Given the description of an element on the screen output the (x, y) to click on. 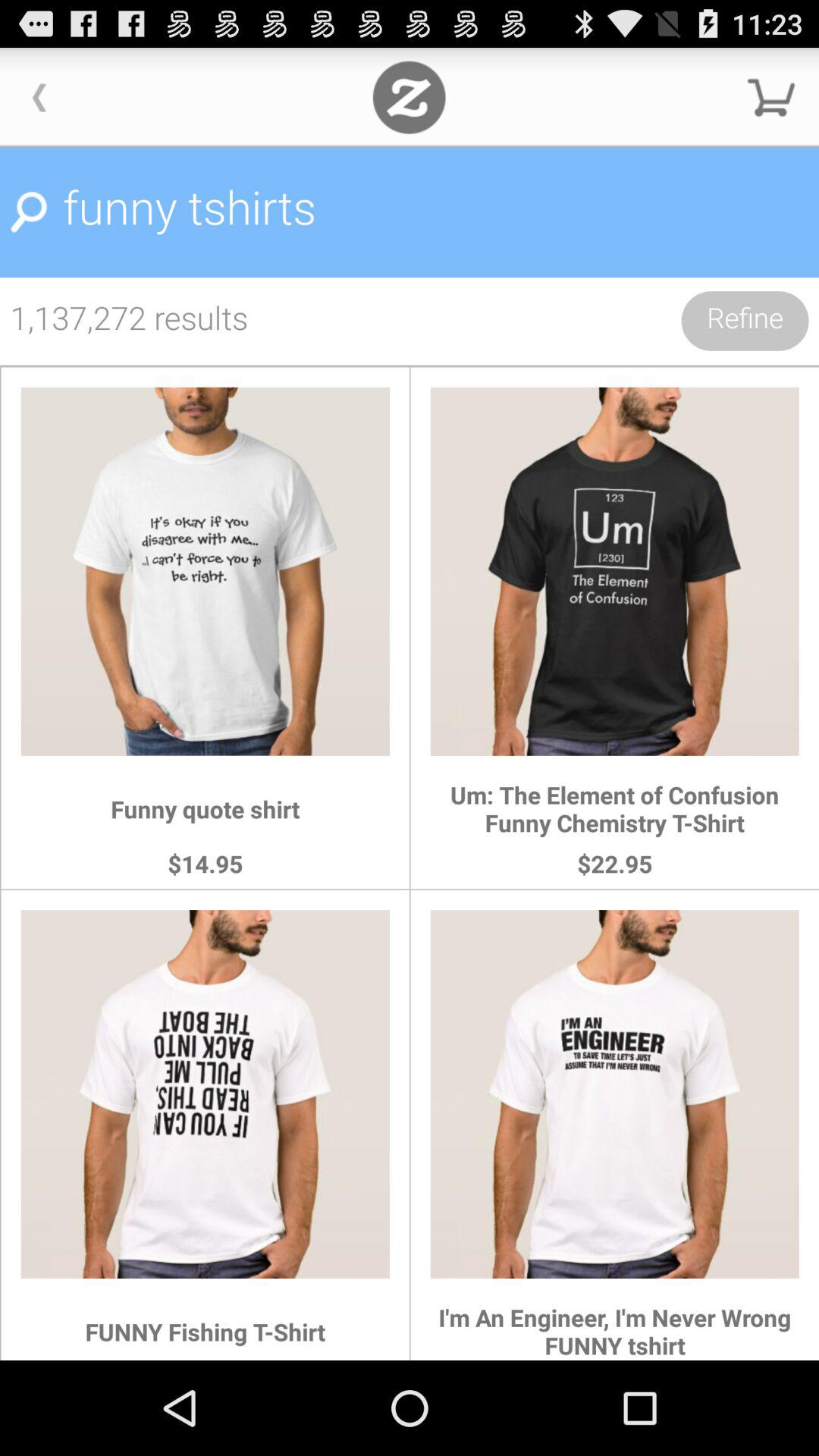
choose icon below funny tshirts item (744, 320)
